Given the description of an element on the screen output the (x, y) to click on. 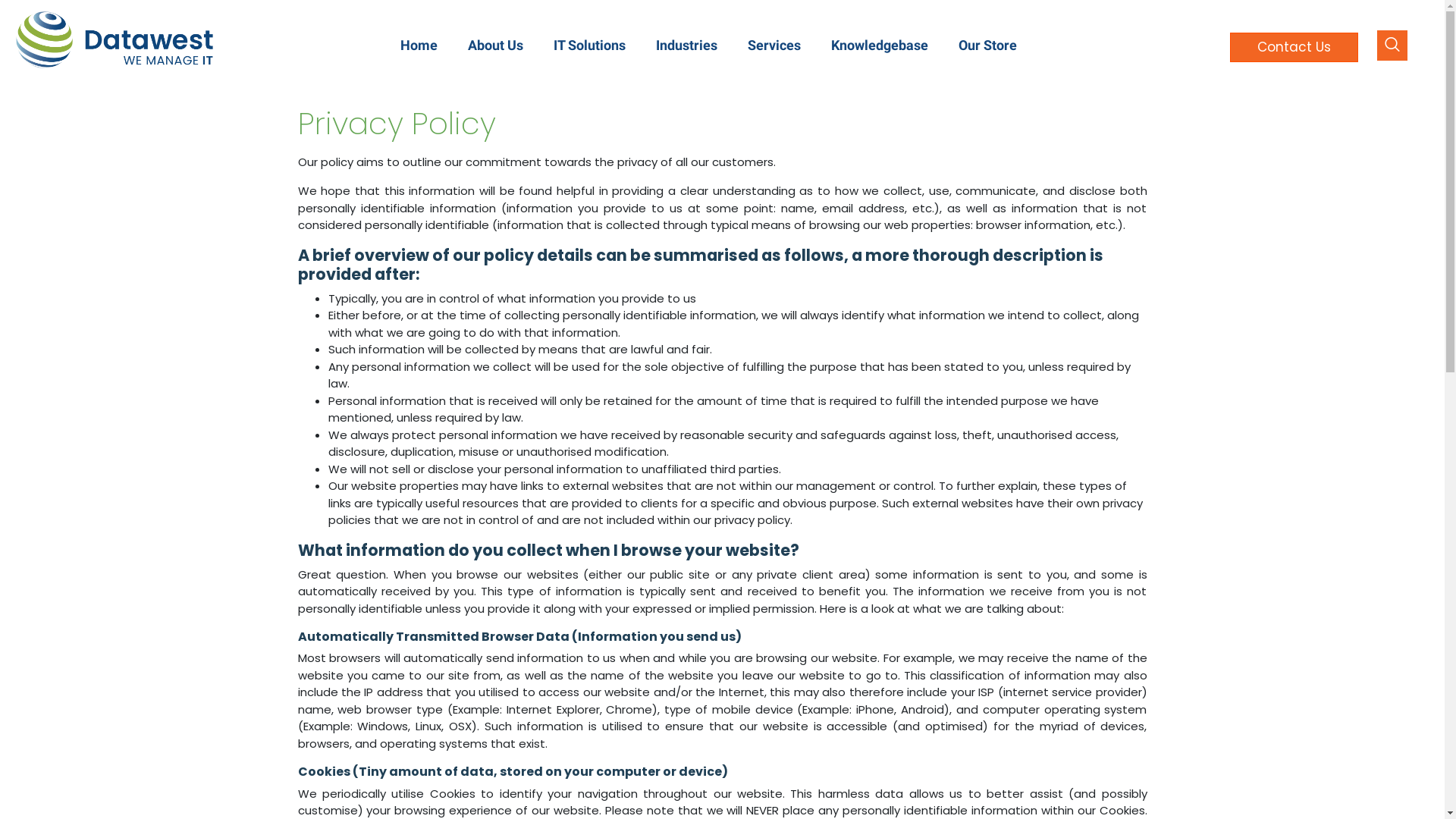
Contact Us Element type: text (1293, 46)
Services Element type: text (773, 44)
IT Solutions Element type: text (589, 44)
Home Element type: text (418, 44)
Our Store Element type: text (987, 44)
Industries Element type: text (686, 44)
About Us Element type: text (495, 44)
Knowledgebase Element type: text (879, 44)
